Given the description of an element on the screen output the (x, y) to click on. 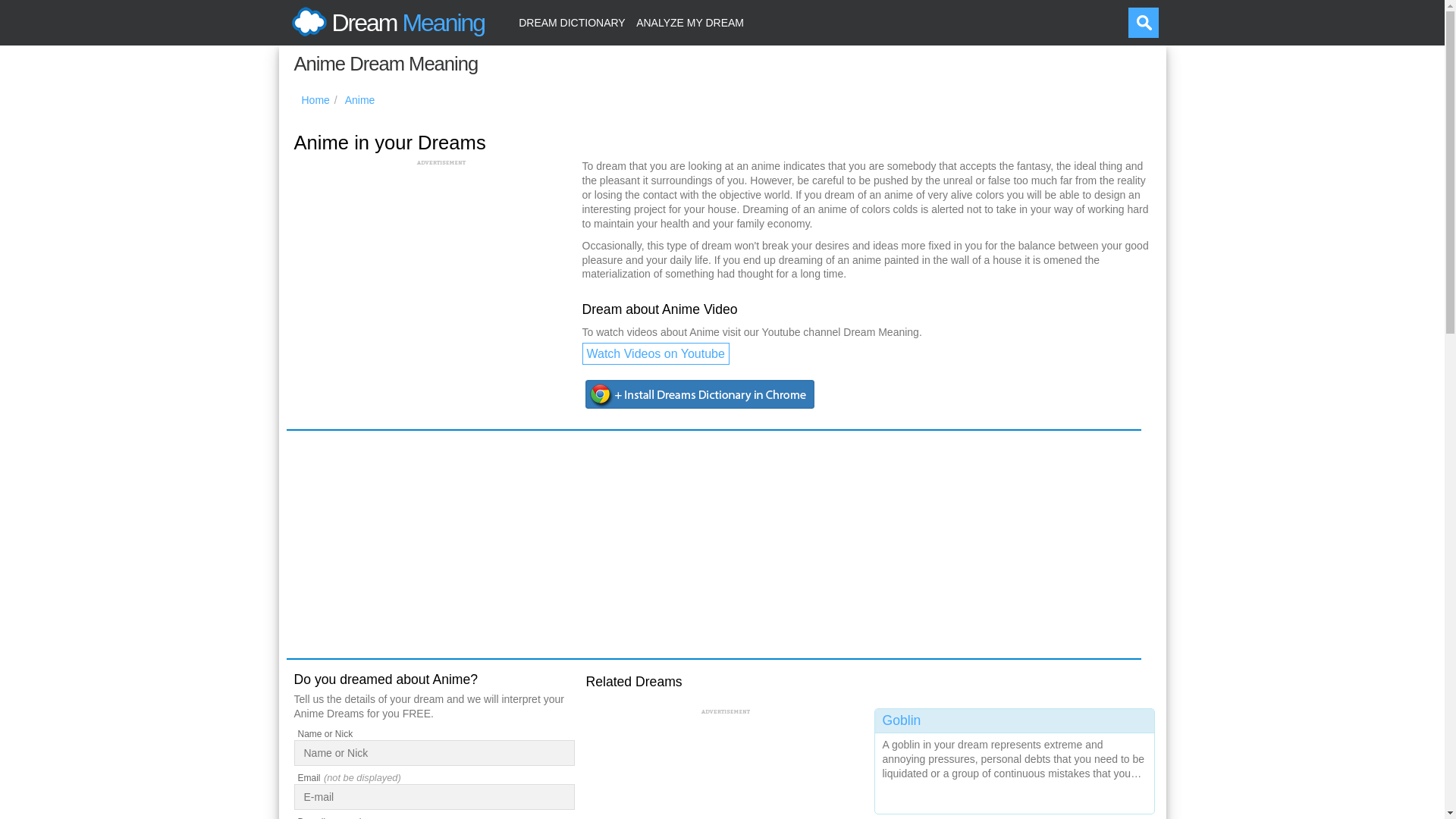
Home (315, 100)
Dream Dictionary (572, 22)
Dream Meaning (385, 22)
Anime Dreams Interpretations and Meanings Explained (360, 100)
Dreams Interpretation and Meaning (385, 22)
ANALYZE MY DREAM (690, 22)
Goblin Dream Meaning (1014, 757)
Anime (360, 100)
Install Dreams Dictionary in Chrome (700, 394)
